Given the description of an element on the screen output the (x, y) to click on. 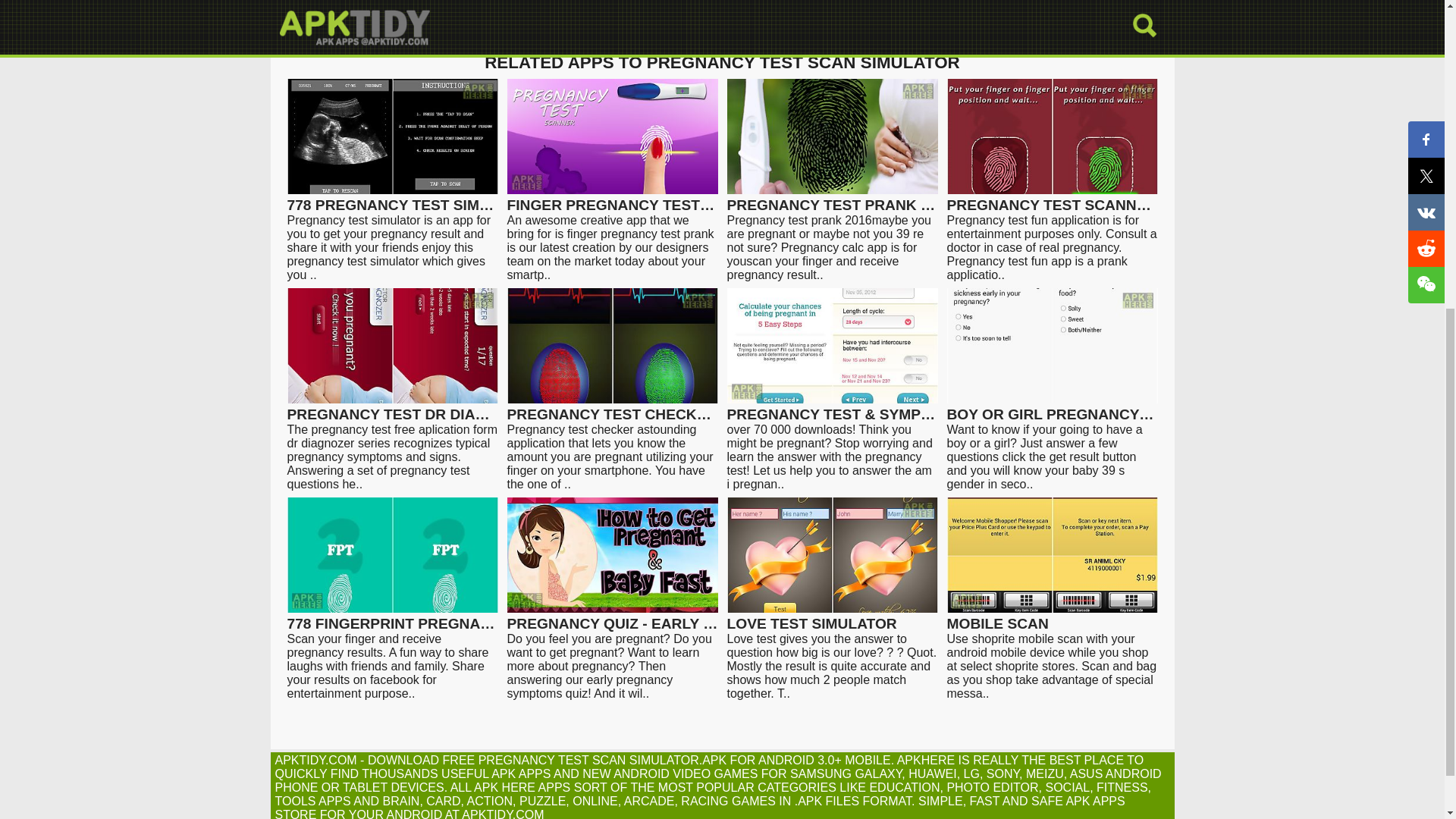
PREGNANCY QUIZ - EARLY PREGNANCY.. (611, 616)
PREGNANCY TEST CHECKER PRANK (611, 408)
FINGER PREGNANCY TEST PRANK (611, 198)
778 FINGERPRINT PREGNANCY TEST 2 (391, 616)
LOVE TEST SIMULATOR (831, 616)
PREGNANCY TEST PRANK 2016 (831, 198)
BOY OR GIRL PREGNANCY TEST (1051, 408)
MOBILE SCAN (1051, 616)
PREGNANCY TEST DR DIAGNOZER (391, 408)
PREGNANCY TEST SCANNER PRANK (1051, 198)
778 PREGNANCY TEST SIMULATOR (391, 198)
